Given the description of an element on the screen output the (x, y) to click on. 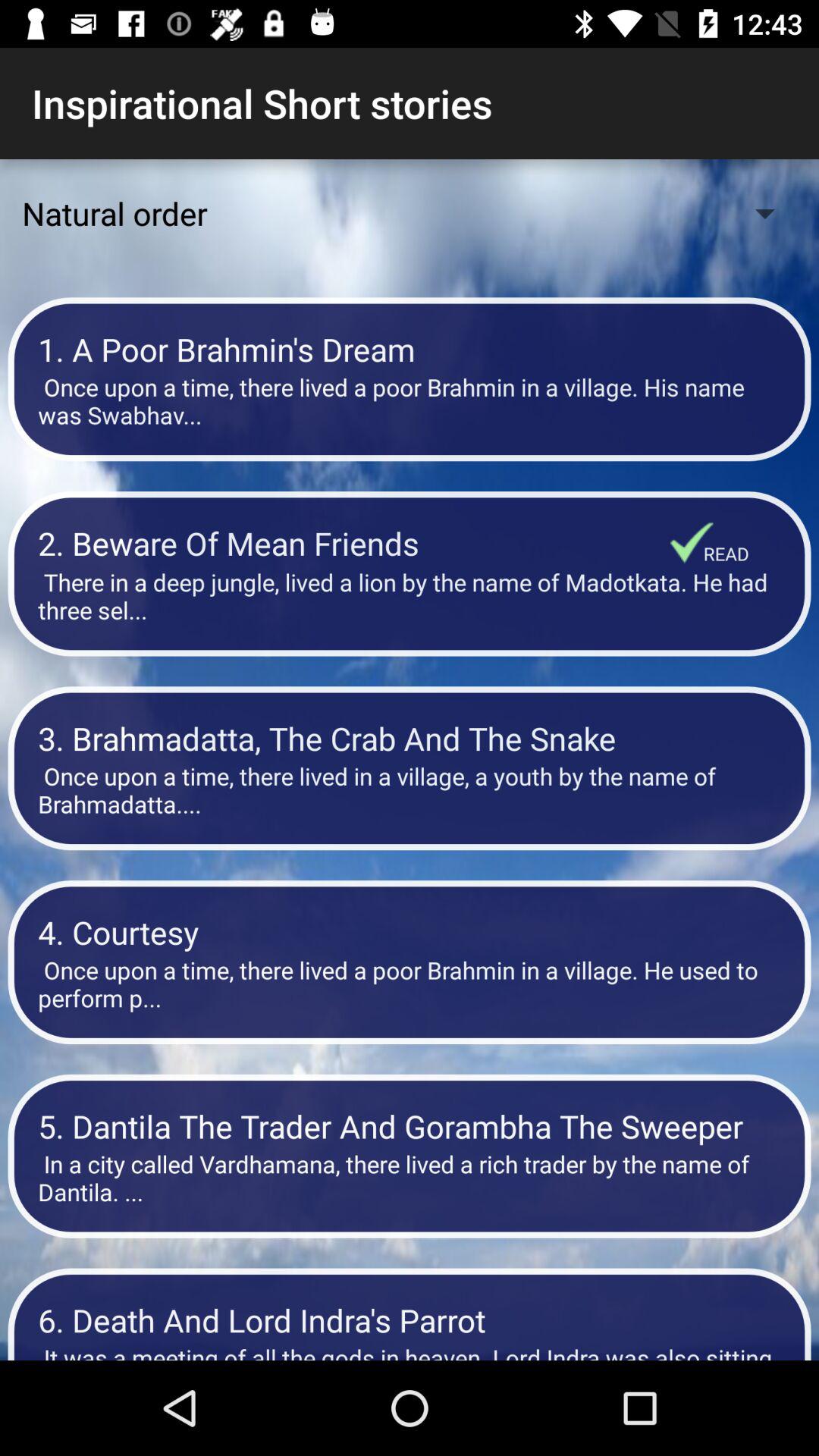
select item next to the 2 beware of icon (691, 542)
